Given the description of an element on the screen output the (x, y) to click on. 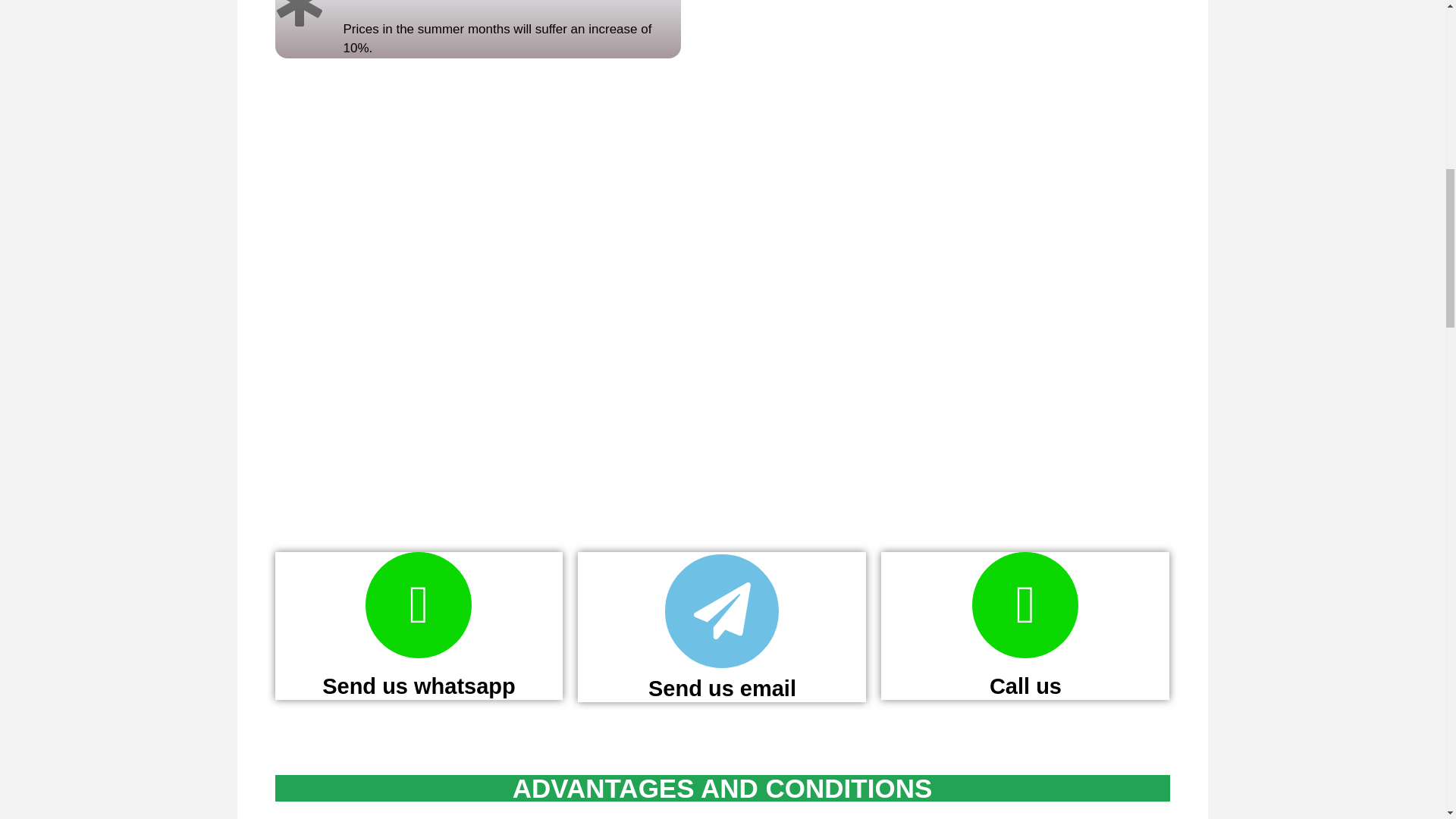
Call us (1025, 686)
Send us whatsapp (418, 686)
Send us email (721, 688)
